Given the description of an element on the screen output the (x, y) to click on. 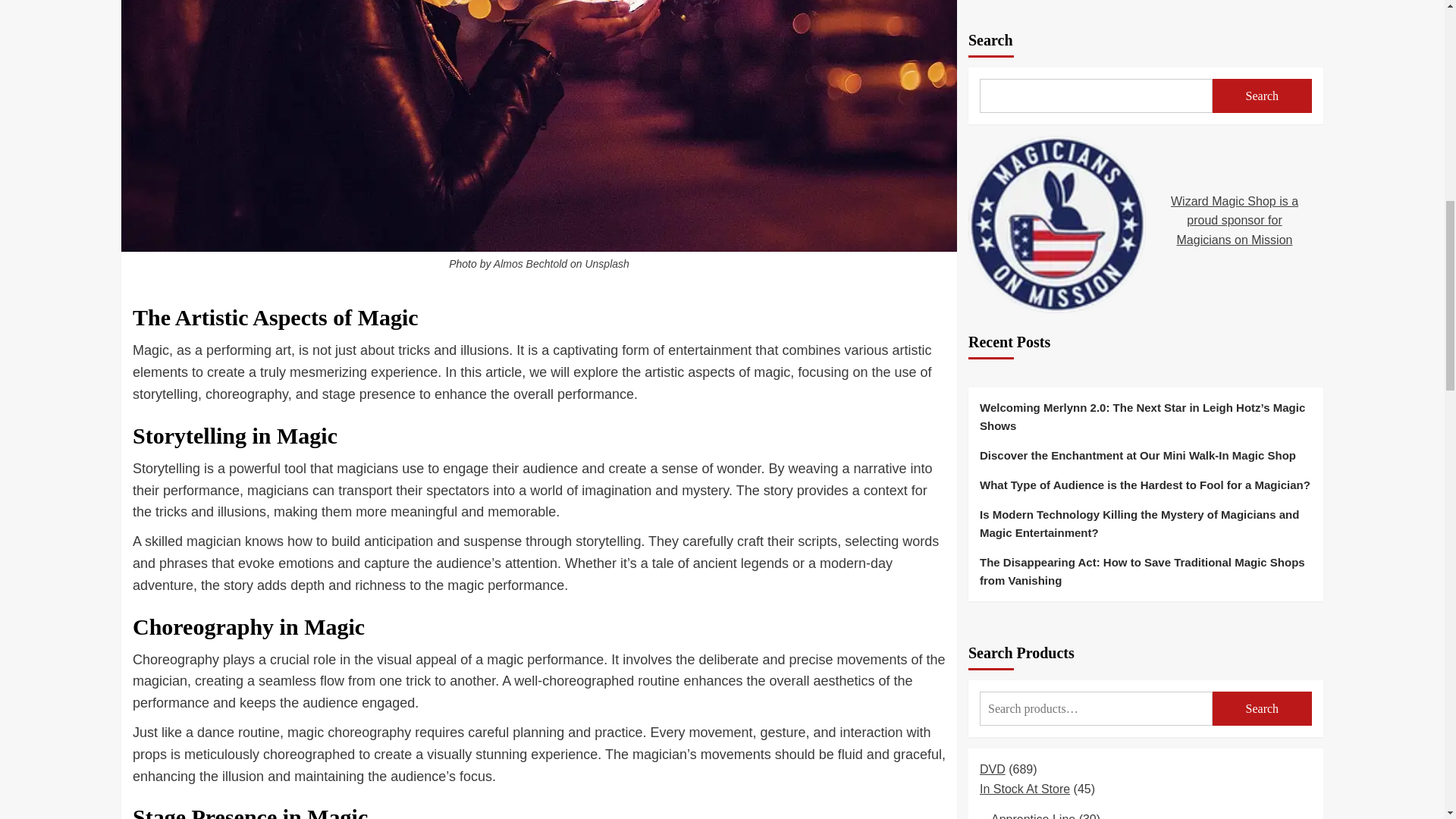
What Type of Audience is the Hardest to Fool for a Magician? (1145, 12)
DVD (992, 288)
In Stock At Store (1024, 308)
Unsplash (606, 263)
Apprentice Line (1033, 338)
Almos Bechtold (530, 263)
Search (1261, 228)
